Given the description of an element on the screen output the (x, y) to click on. 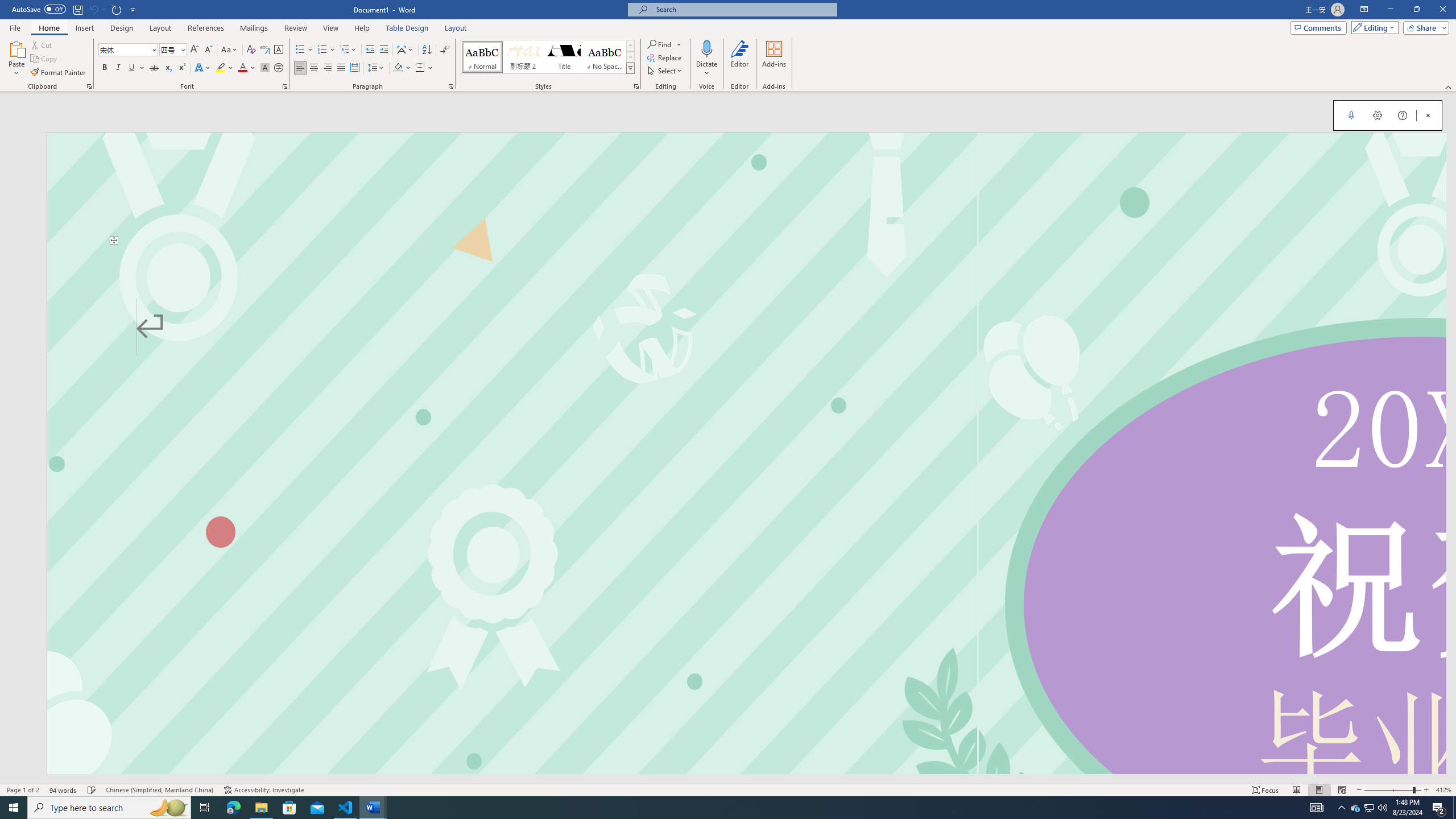
Align Right (327, 67)
Clear Formatting (250, 49)
Enclose Characters... (278, 67)
Copy (45, 58)
